Given the description of an element on the screen output the (x, y) to click on. 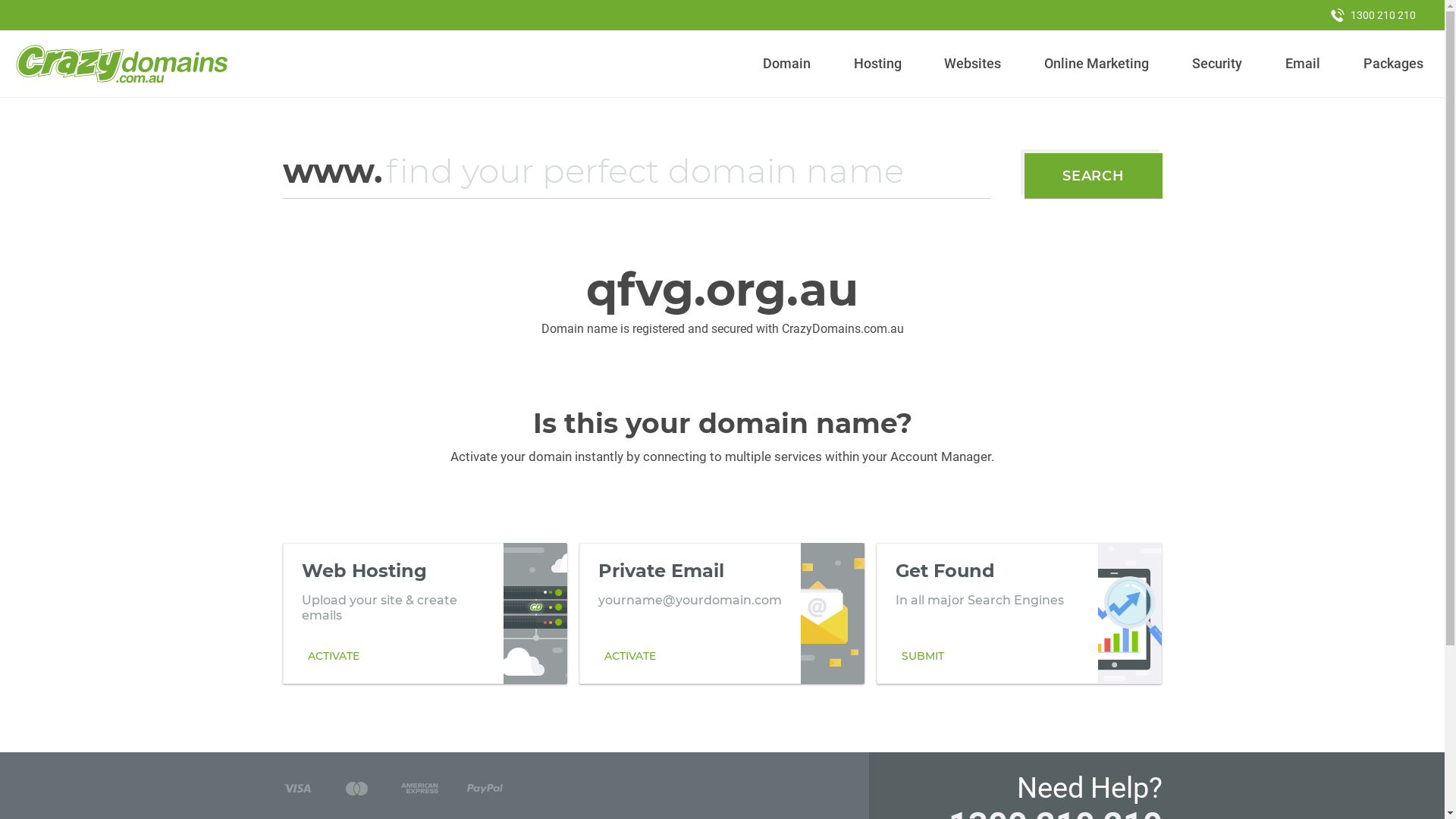
1300 210 210 Element type: text (1373, 15)
Packages Element type: text (1392, 63)
Hosting Element type: text (877, 63)
Web Hosting
Upload your site & create emails
ACTIVATE Element type: text (424, 613)
Domain Element type: text (786, 63)
Get Found
In all major Search Engines
SUBMIT Element type: text (1018, 613)
Websites Element type: text (972, 63)
Security Element type: text (1217, 63)
Online Marketing Element type: text (1096, 63)
Email Element type: text (1302, 63)
SEARCH Element type: text (1092, 175)
Private Email
yourname@yourdomain.com
ACTIVATE Element type: text (721, 613)
